Given the description of an element on the screen output the (x, y) to click on. 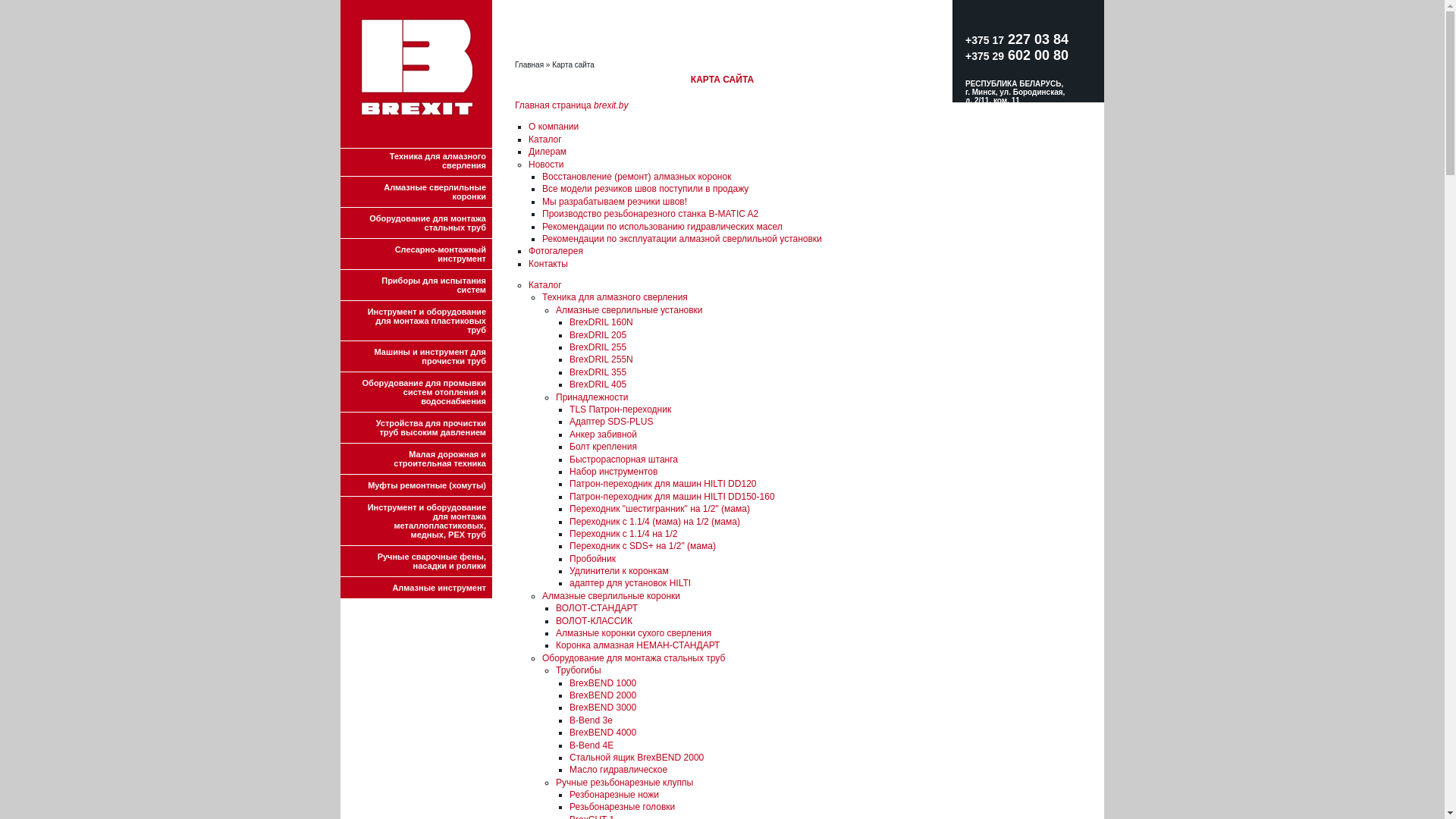
BrexDRIL 355 Element type: text (597, 372)
BrexDRIL 205 Element type: text (597, 334)
BrexBEND 1000 Element type: text (602, 682)
+375 17 227 03 84 Element type: text (1016, 46)
BrexDRIL 405 Element type: text (597, 384)
BrexBEND 3000 Element type: text (602, 707)
BrexDRIL 255 Element type: text (597, 347)
B-Bend 4E Element type: text (591, 745)
B-Bend 3e Element type: text (590, 720)
BrexDRIL 255N Element type: text (601, 359)
+375 29 602 00 80 Element type: text (1016, 54)
BrexDRIL 160N Element type: text (601, 321)
BrexBEND 2000 Element type: text (602, 695)
BrexBEND 4000 Element type: text (602, 732)
